Given the description of an element on the screen output the (x, y) to click on. 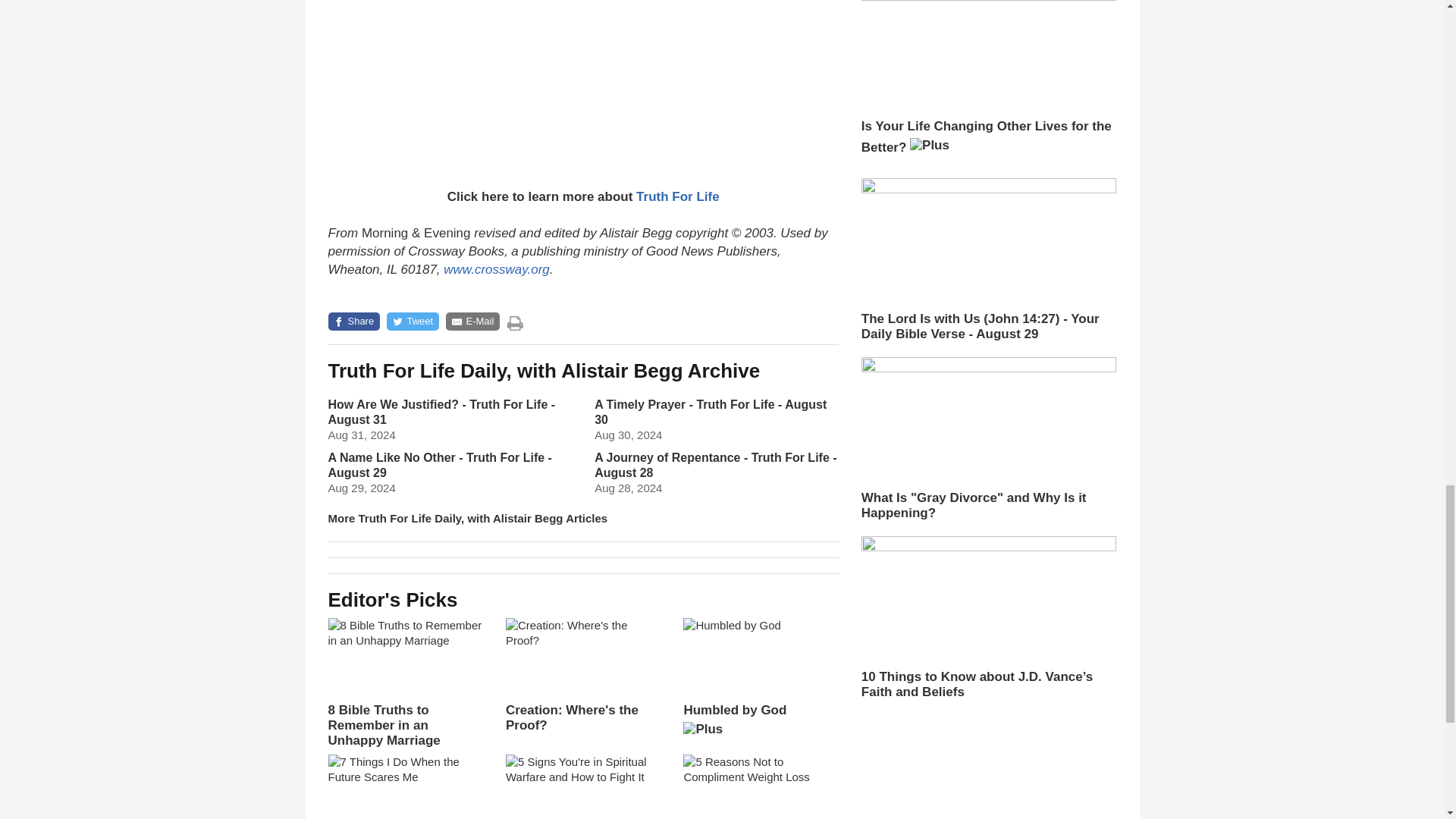
5 Signs You're in Spiritual Warfare and How to Fight It (583, 786)
Humbled by God (760, 682)
Creation: Where's the Proof? (583, 675)
5 Reasons Not to Compliment Weight Loss (760, 786)
7 Things I Do When the Future Scares Me (404, 786)
8 Bible Truths to Remember in an Unhappy Marriage (404, 683)
